Given the description of an element on the screen output the (x, y) to click on. 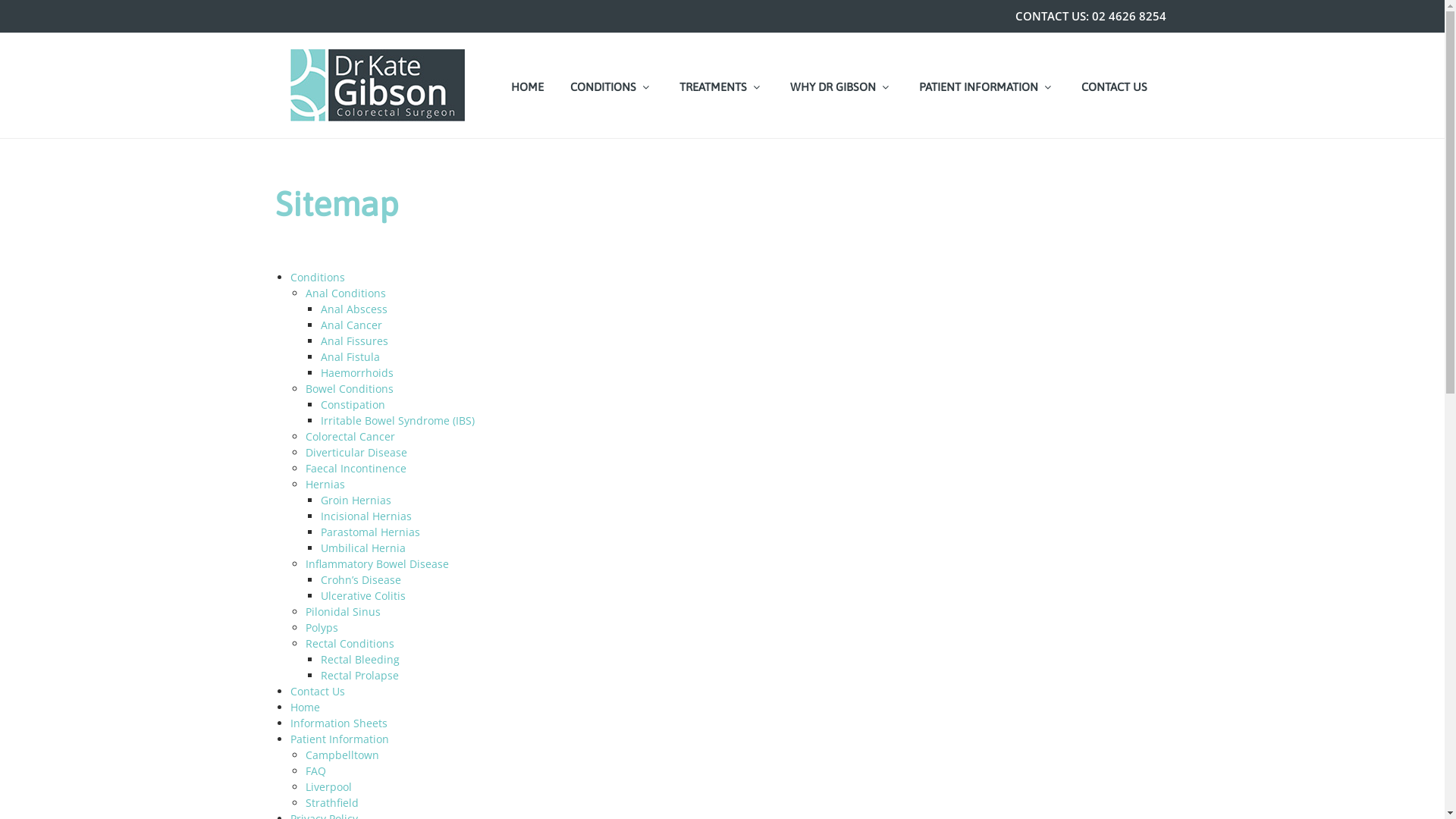
Hernias Element type: text (324, 483)
Inflammatory Bowel Disease Element type: text (376, 563)
Campbelltown Element type: text (341, 754)
CONTACT US: 02 4626 8254 Element type: text (1090, 16)
Contact Us Element type: text (316, 691)
Anal Cancer Element type: text (350, 324)
Rectal Prolapse Element type: text (359, 675)
FAQ Element type: text (314, 770)
CONDITIONS Element type: text (611, 85)
Anal Abscess Element type: text (353, 308)
HOME Element type: text (527, 85)
Anal Fissures Element type: text (353, 340)
TREATMENTS Element type: text (721, 85)
Anal Fistula Element type: text (349, 356)
Anal Conditions Element type: text (344, 292)
WHY DR GIBSON Element type: text (841, 85)
Irritable Bowel Syndrome (IBS) Element type: text (396, 420)
CONTACT US Element type: text (1113, 85)
Diverticular Disease Element type: text (355, 452)
Rectal Conditions Element type: text (348, 643)
Groin Hernias Element type: text (355, 499)
Constipation Element type: text (352, 404)
Patient Information Element type: text (338, 738)
Rectal Bleeding Element type: text (359, 659)
Liverpool Element type: text (327, 786)
Incisional Hernias Element type: text (365, 515)
Parastomal Hernias Element type: text (369, 531)
Strathfield Element type: text (330, 802)
Conditions Element type: text (316, 276)
Pilonidal Sinus Element type: text (341, 611)
Polyps Element type: text (320, 627)
Dr Kate Gibson Element type: hover (376, 85)
Bowel Conditions Element type: text (348, 388)
PATIENT INFORMATION Element type: text (986, 85)
Home Element type: text (304, 706)
Haemorrhoids Element type: text (356, 372)
Ulcerative Colitis Element type: text (362, 595)
Information Sheets Element type: text (337, 722)
Faecal Incontinence Element type: text (354, 468)
Colorectal Cancer Element type: text (349, 436)
Umbilical Hernia Element type: text (362, 547)
